Given the description of an element on the screen output the (x, y) to click on. 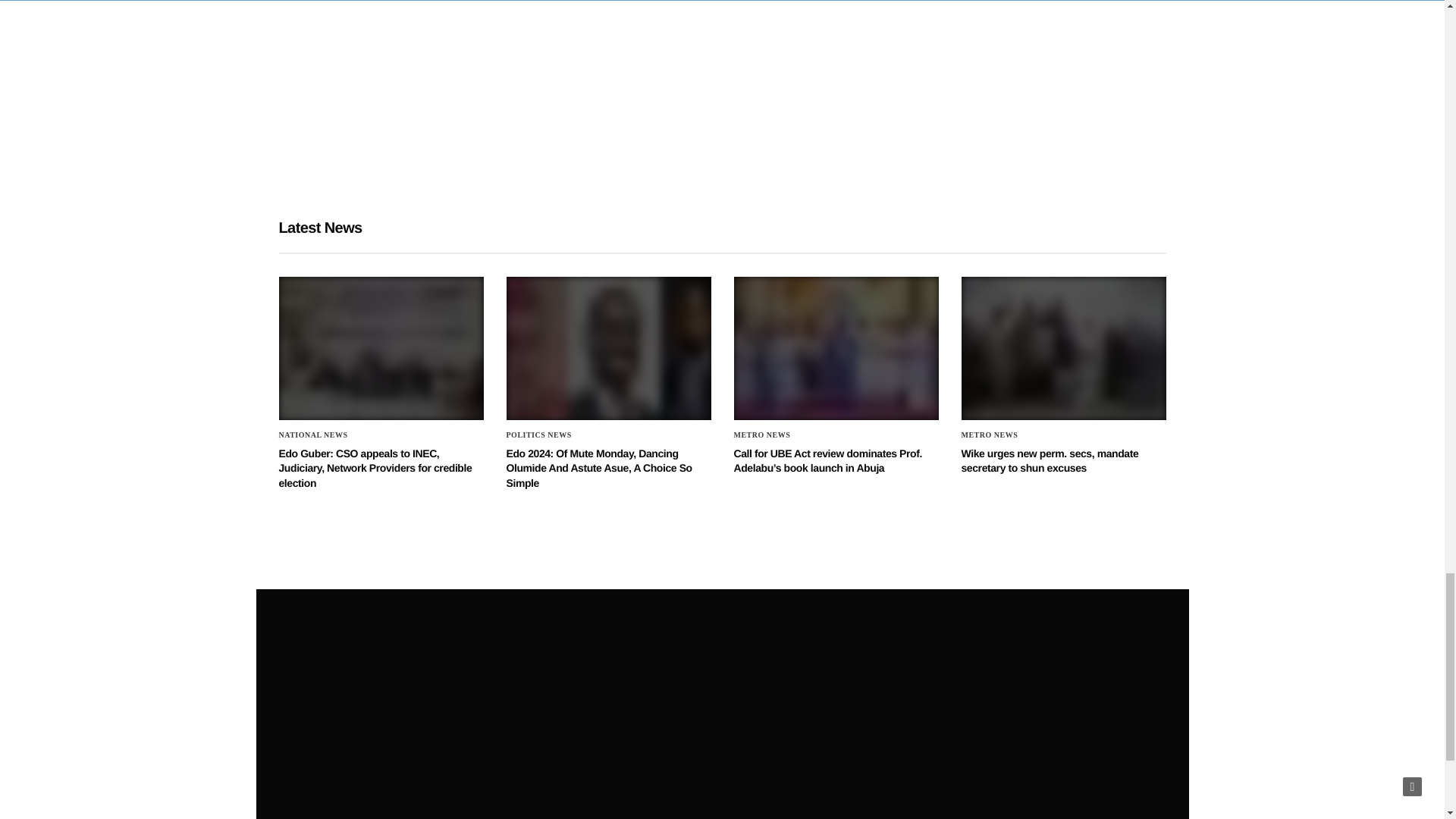
Politics News (539, 434)
National News (313, 434)
Advertisement (571, 90)
